Given the description of an element on the screen output the (x, y) to click on. 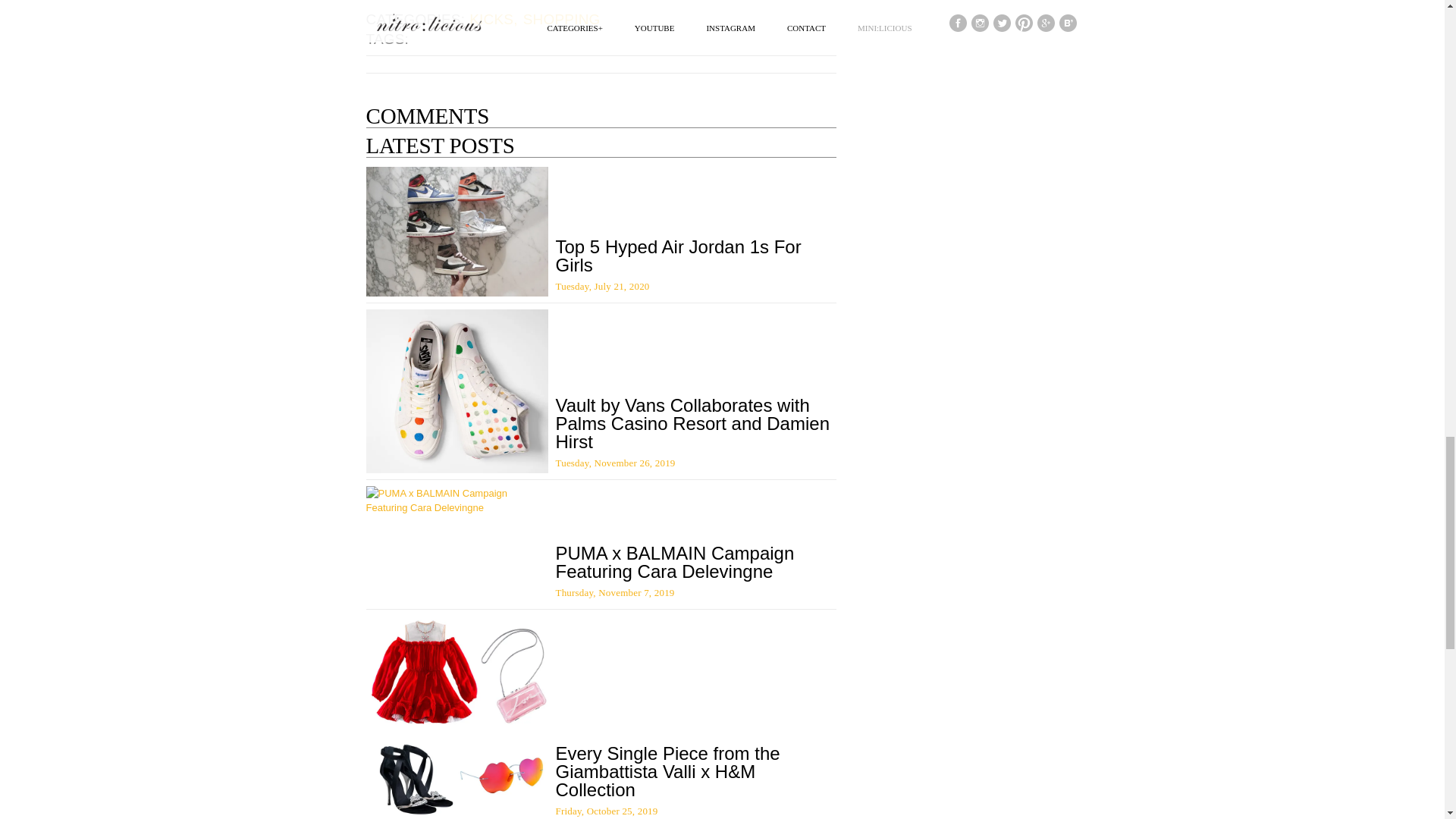
SHOPPING (562, 18)
KICKS (493, 18)
PUMA x BALMAIN Campaign Featuring Cara Delevingne (673, 561)
Top 5 Hyped Air Jordan 1s For Girls (677, 255)
